Given the description of an element on the screen output the (x, y) to click on. 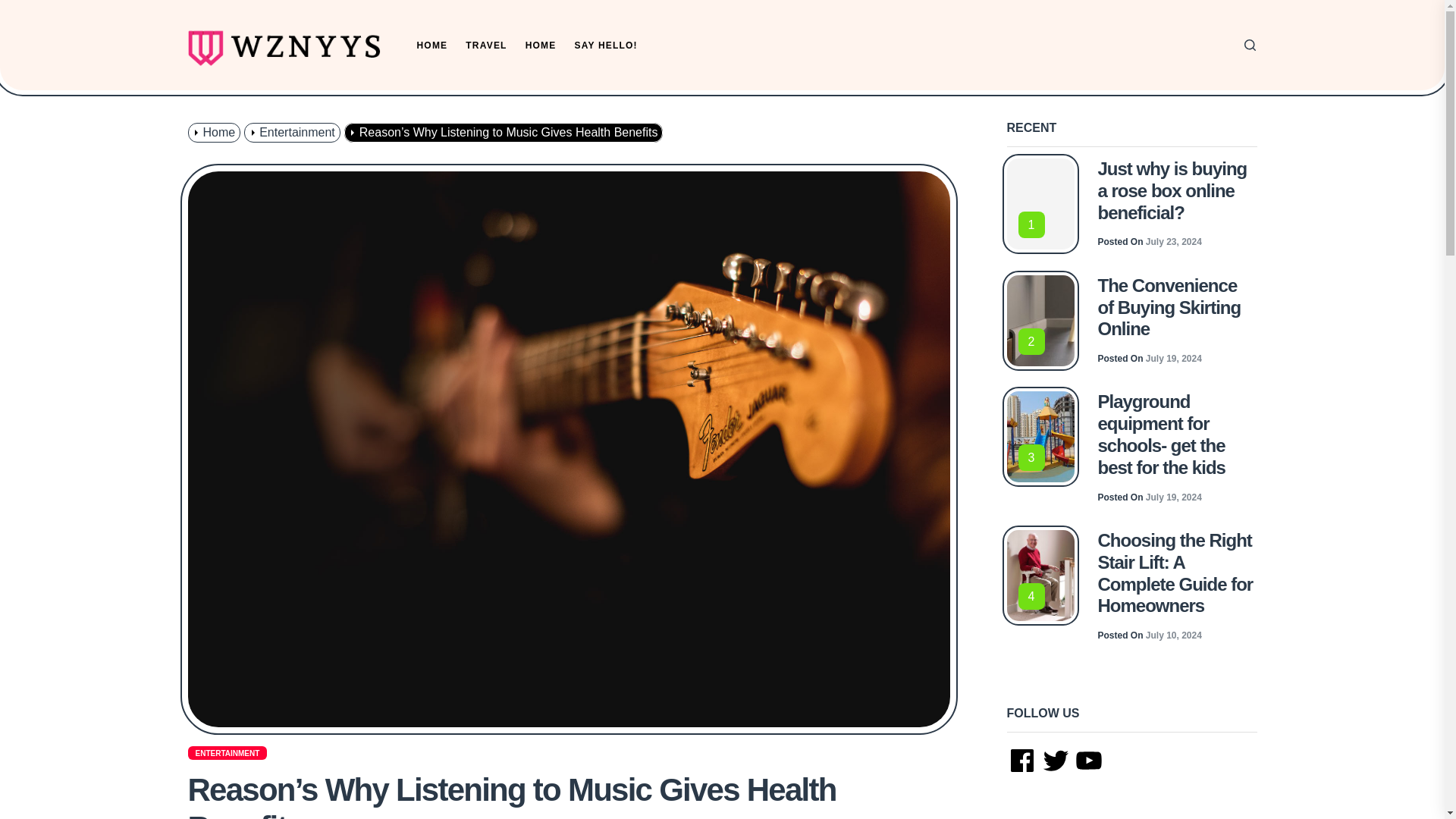
ENTERTAINMENT (227, 753)
Posted On July 19, 2024 (1149, 357)
Playground equipment for schools- get the best for the kids (1160, 433)
Posted On July 23, 2024 (1149, 241)
HOME (432, 45)
SAY HELLO! (605, 45)
Posted On July 10, 2024 (1149, 634)
Entertainment (293, 132)
The Convenience of Buying Skirting Online (1168, 307)
HOME (540, 45)
Posted On July 19, 2024 (1149, 497)
Home (215, 132)
TRAVEL (485, 45)
Just why is buying a rose box online beneficial? (1171, 190)
